Given the description of an element on the screen output the (x, y) to click on. 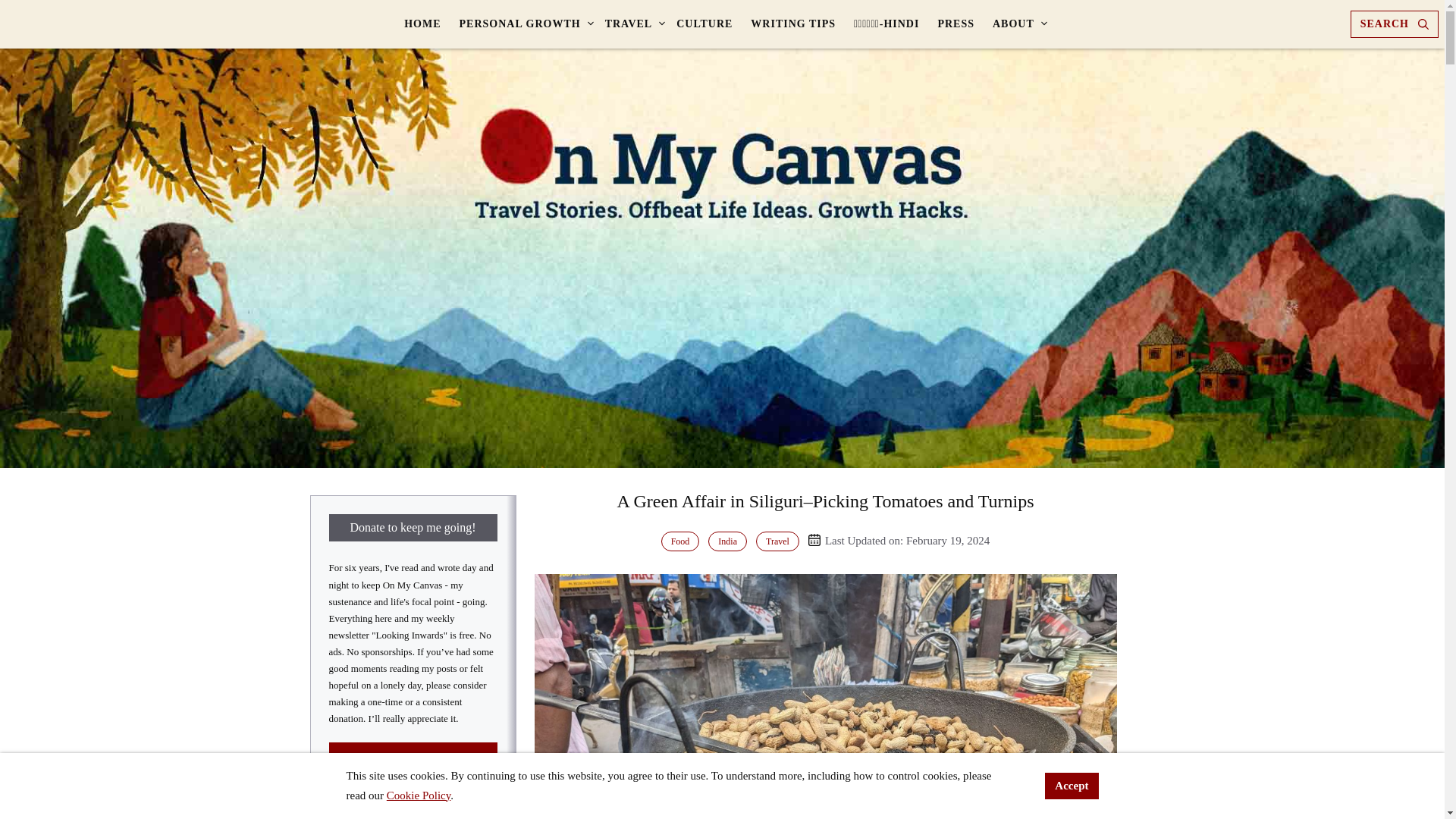
India (726, 541)
TRAVEL (631, 24)
WRITING TIPS (792, 24)
PERSONAL GROWTH (522, 24)
PRESS (956, 24)
Food (680, 541)
Travel (777, 541)
CULTURE (703, 24)
ABOUT (1016, 24)
HOME (421, 24)
